Given the description of an element on the screen output the (x, y) to click on. 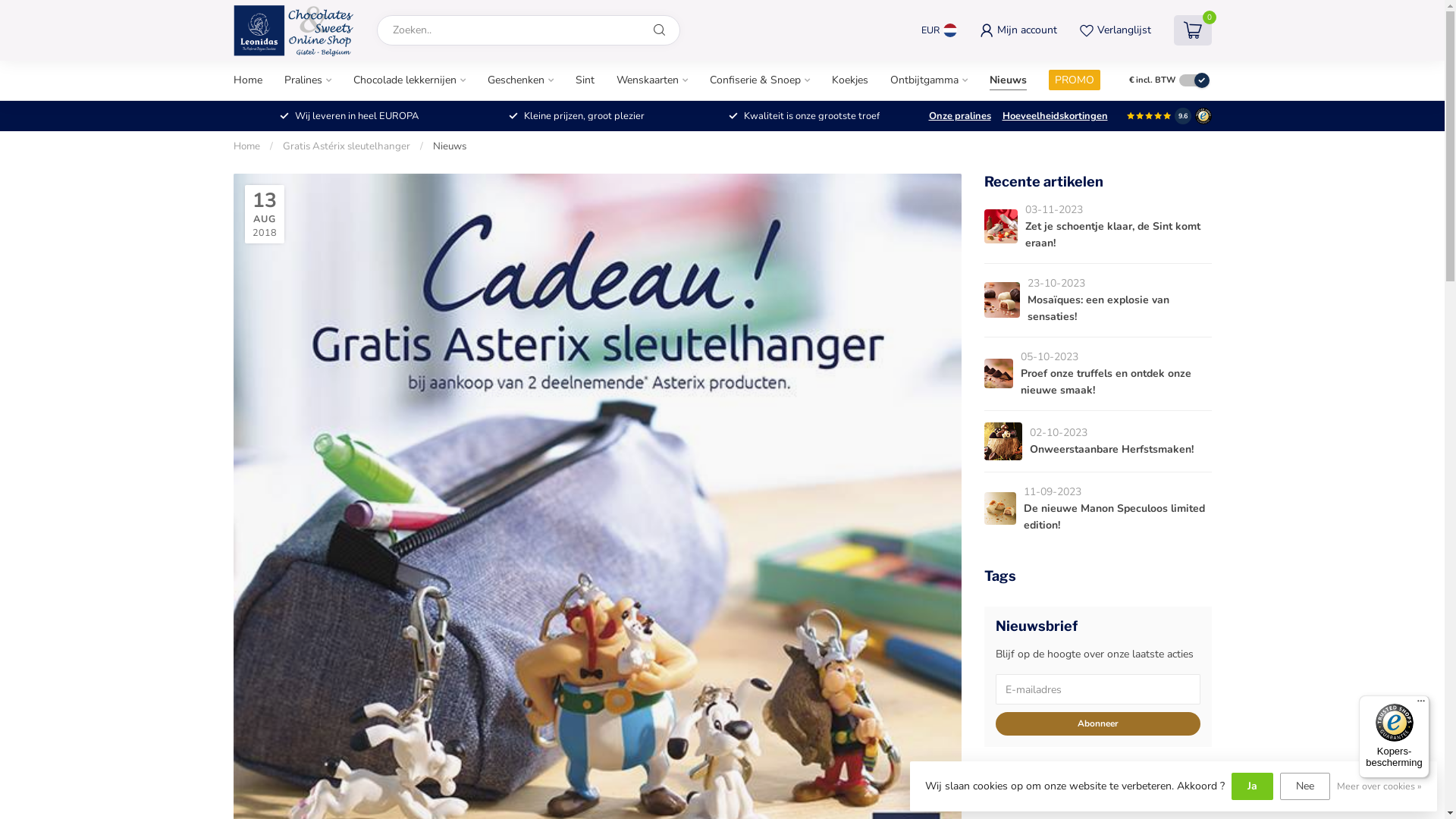
Wenskaarten Element type: text (651, 80)
Onze pralines Element type: text (959, 115)
Nieuws Element type: text (1007, 80)
Onweerstaanbare Herfstsmaken! Element type: text (1111, 449)
Geschenken Element type: text (519, 80)
1 Element type: text (507, 557)
De nieuwe Manon Speculoos limited edition! Element type: text (1113, 516)
Confiserie & Snoep Element type: text (759, 80)
Zet je schoentje klaar, de Sint komt eraan! Element type: text (1112, 234)
Sint Element type: text (583, 80)
PROMO Element type: text (1073, 79)
9.6 Element type: text (1181, 115)
Proef onze truffels en ontdek onze nieuwe smaak! Element type: text (1105, 381)
Hoeveelheidskortingen Element type: text (1054, 115)
Ontbijtgamma Element type: text (928, 80)
0 Element type: text (1192, 30)
1 Element type: text (1060, 218)
Nee Element type: text (1305, 786)
Pralines Element type: text (306, 80)
Nieuws Element type: text (448, 146)
Home Element type: text (247, 80)
Koekjes Element type: text (849, 80)
Chocolade lekkernijen Element type: text (409, 80)
Home Element type: text (246, 146)
Ja Element type: text (1252, 786)
Verlanglijst Element type: text (1115, 30)
Abonneer Element type: text (1096, 723)
